Given the description of an element on the screen output the (x, y) to click on. 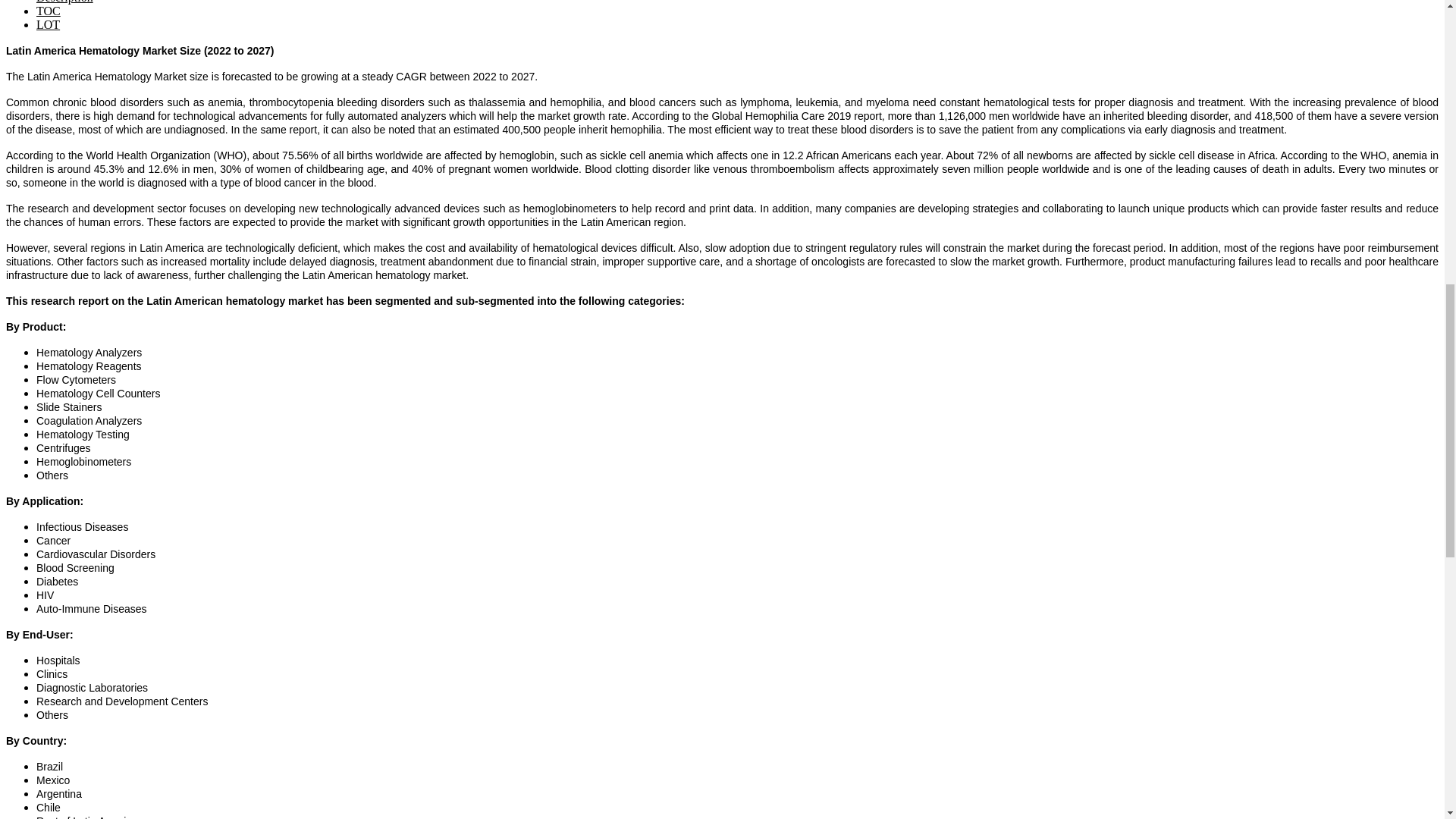
TOC (48, 10)
LOT (47, 24)
Description (64, 2)
